Given the description of an element on the screen output the (x, y) to click on. 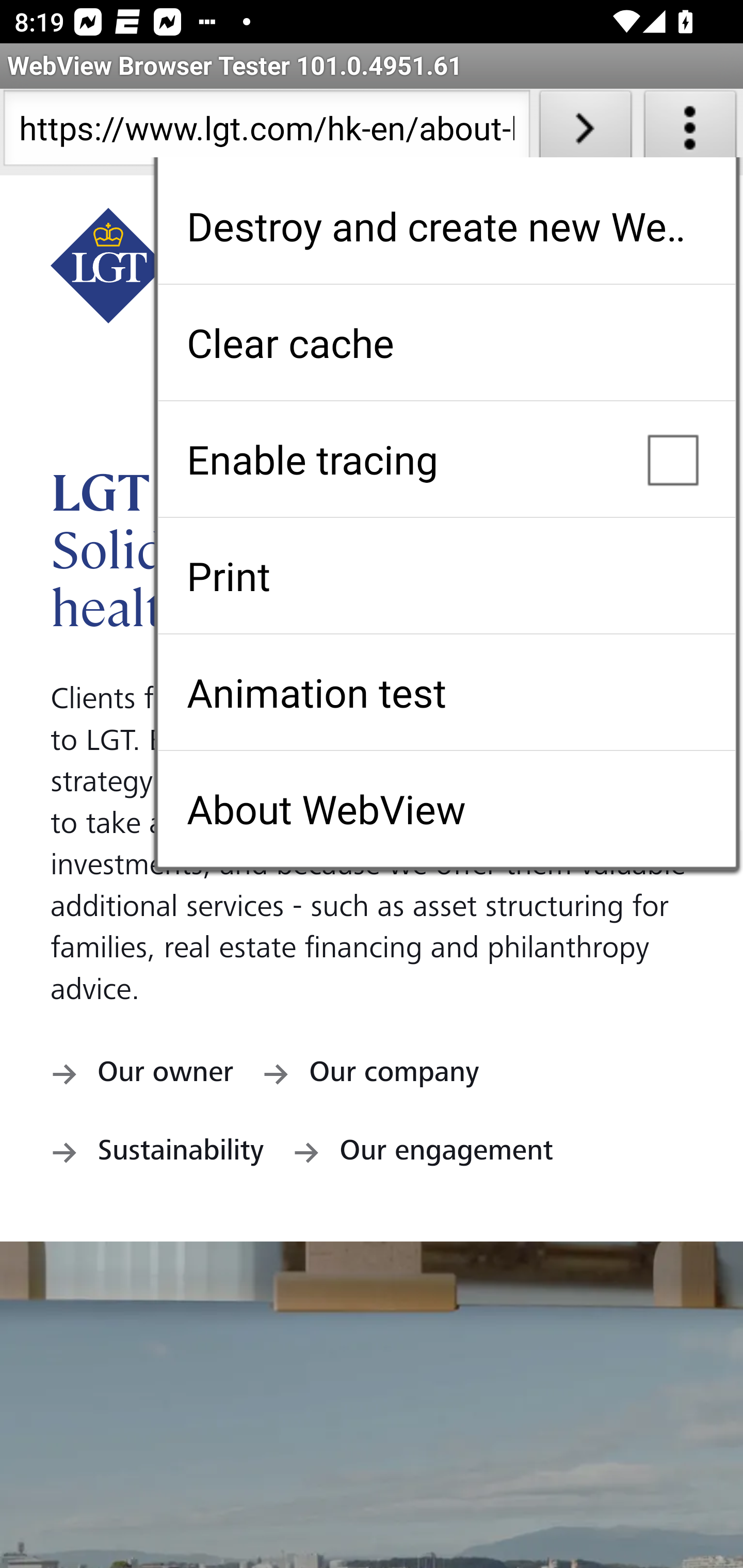
Destroy and create new WebView (446, 225)
Clear cache (446, 342)
Enable tracing (446, 459)
Print (446, 575)
Animation test (446, 692)
About WebView (446, 809)
